Given the description of an element on the screen output the (x, y) to click on. 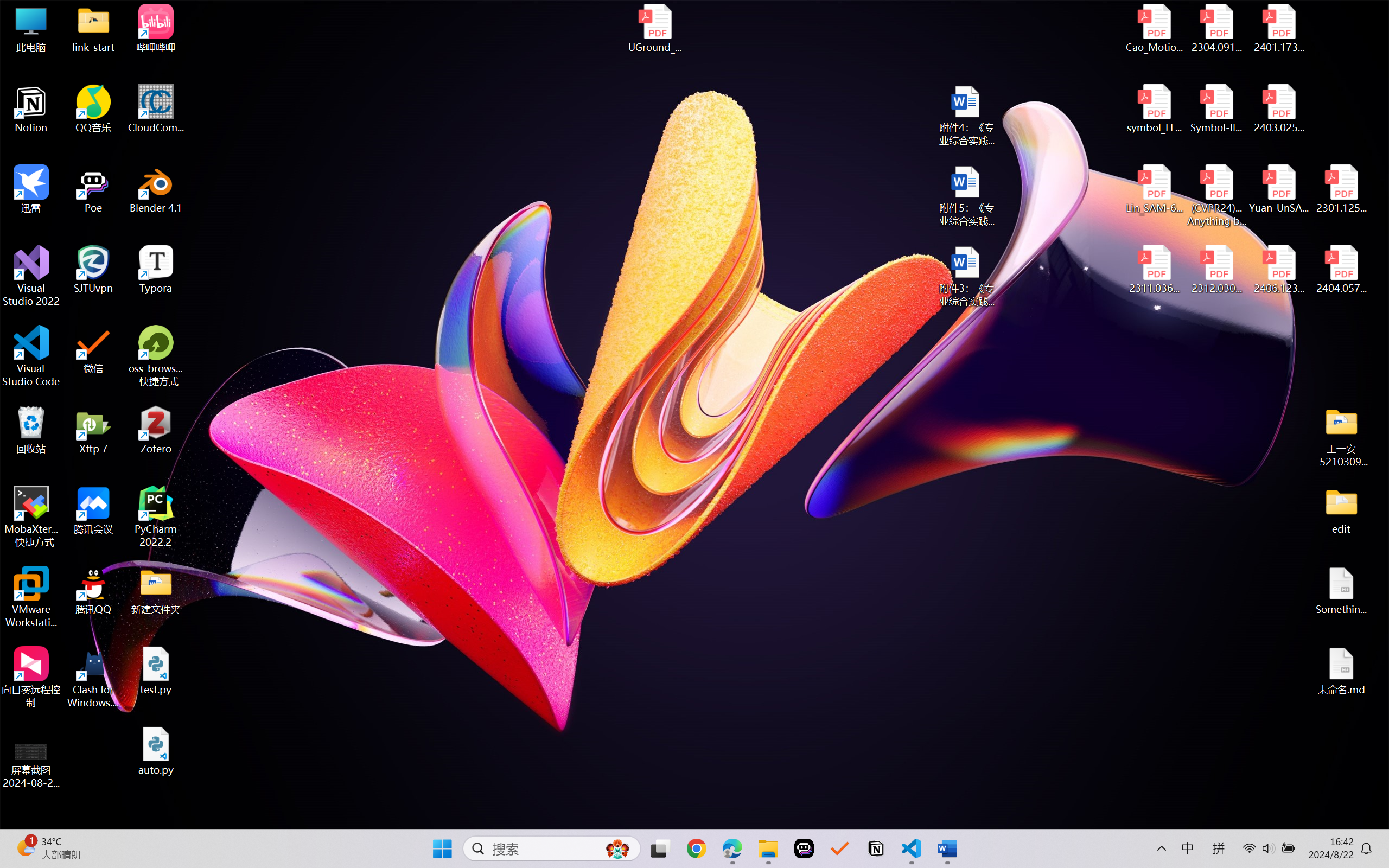
PyCharm 2022.2 (156, 516)
Symbol-llm-v2.pdf (1216, 109)
Visual Studio 2022 (31, 276)
